Given the description of an element on the screen output the (x, y) to click on. 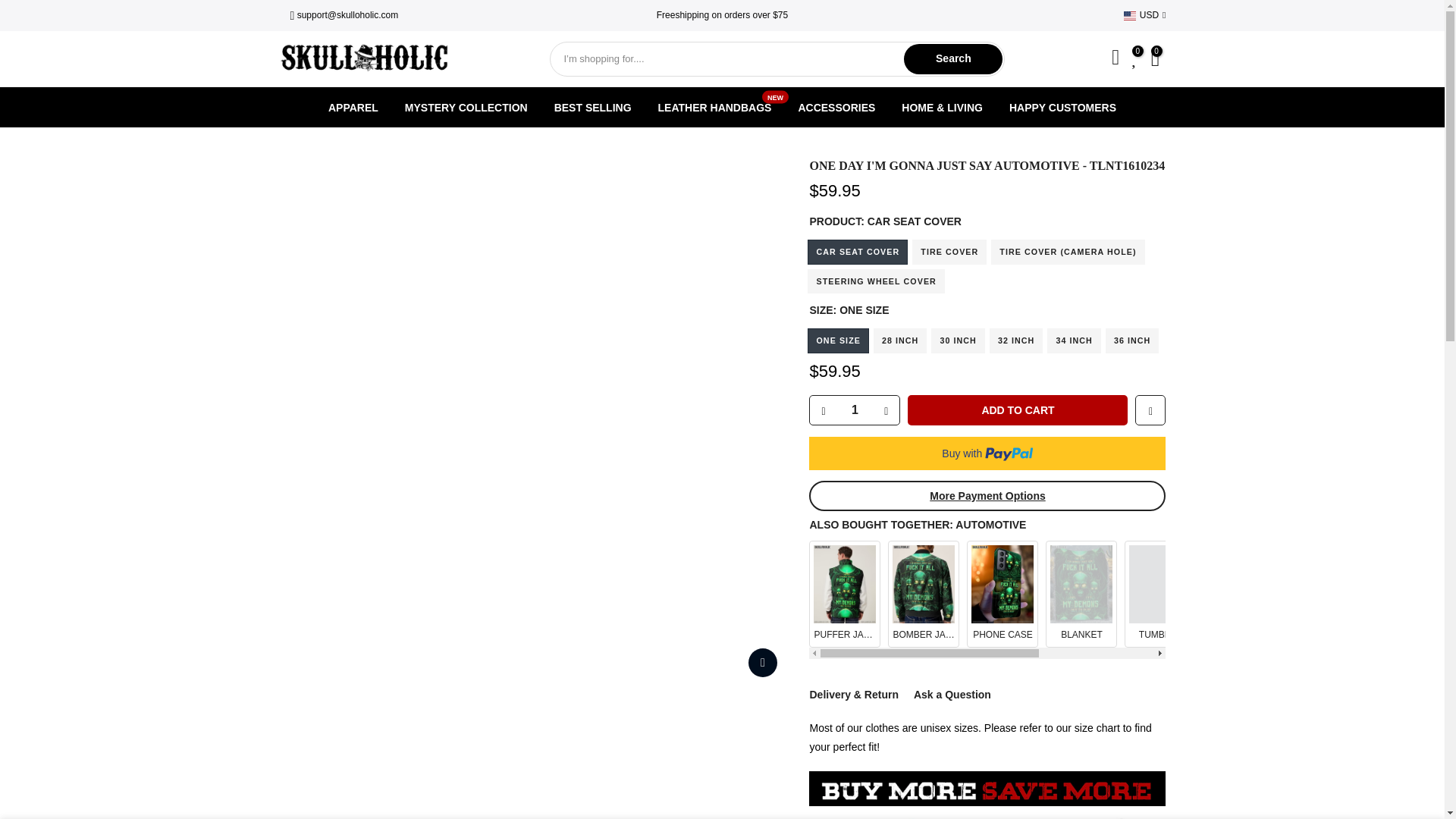
HAPPY CUSTOMERS (714, 106)
More Payment Options (1062, 106)
MYSTERY COLLECTION (987, 495)
BEST SELLING (465, 106)
ACCESSORIES (592, 106)
APPAREL (836, 106)
Search (353, 106)
ADD TO CART (953, 59)
1 (1016, 409)
